Given the description of an element on the screen output the (x, y) to click on. 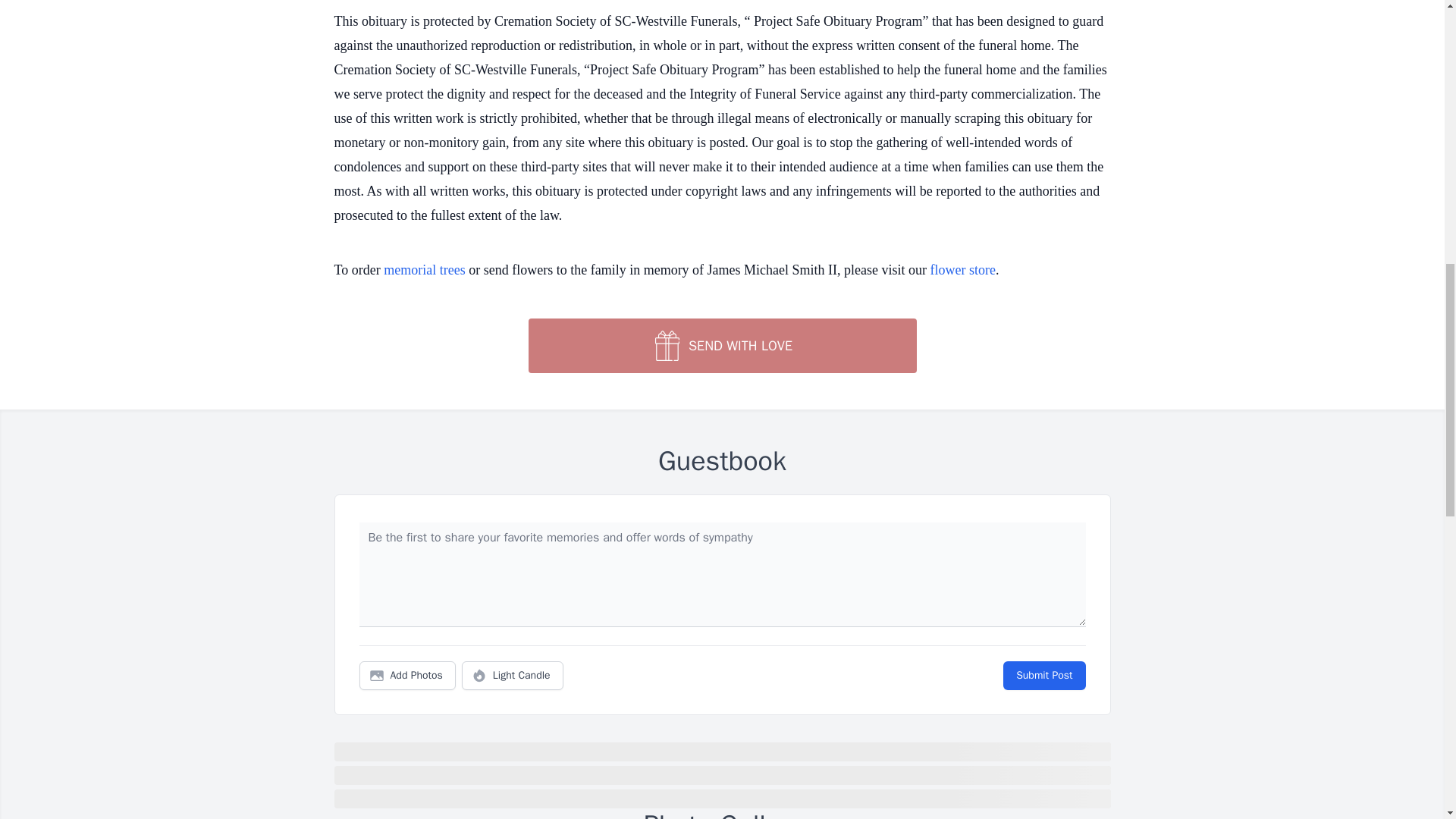
SEND WITH LOVE (721, 345)
Add Photos (407, 675)
Light Candle (512, 675)
memorial trees (424, 269)
Submit Post (1043, 675)
flower store (962, 269)
